Given the description of an element on the screen output the (x, y) to click on. 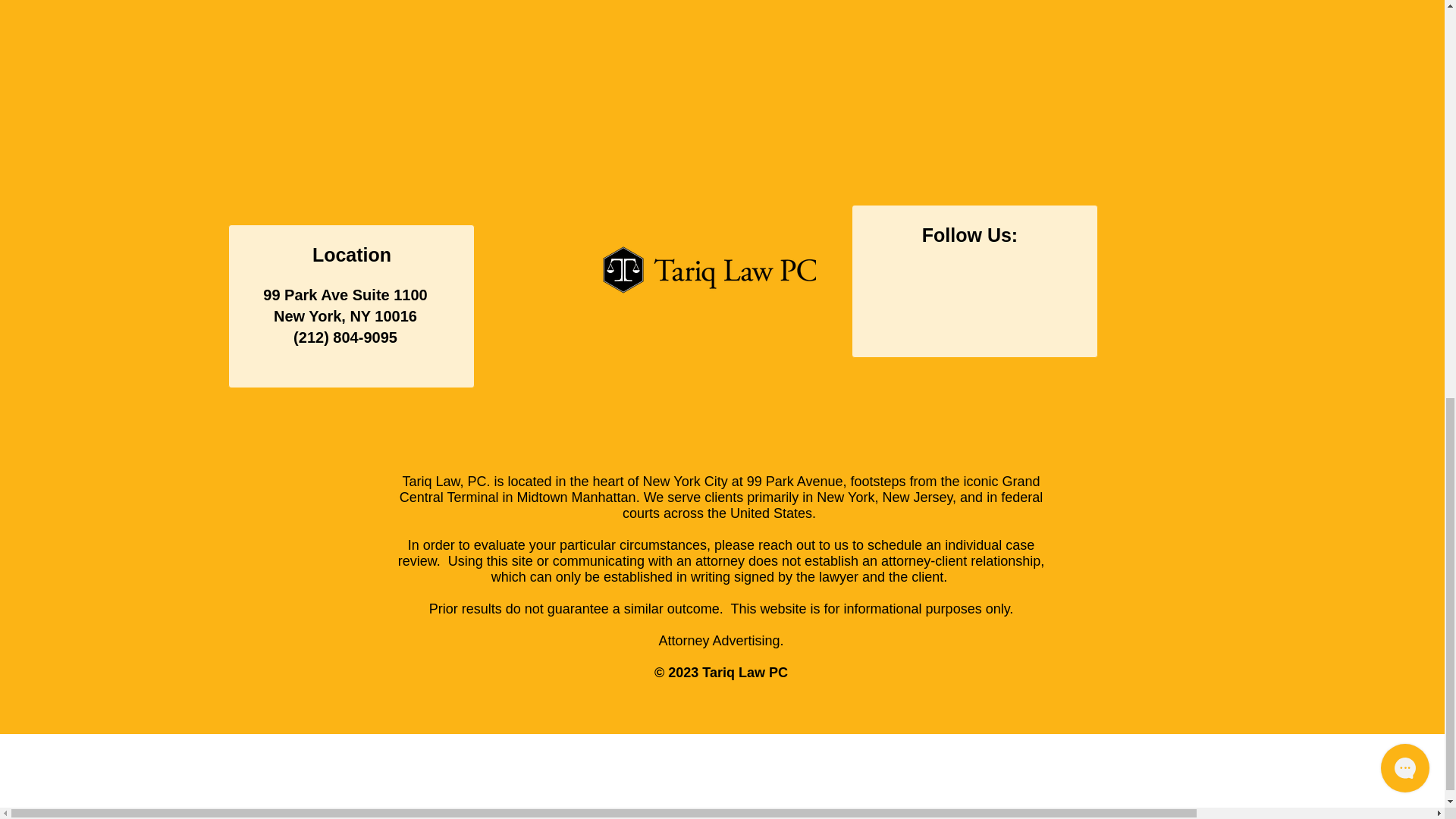
Wix Chat (1408, 4)
